Given the description of an element on the screen output the (x, y) to click on. 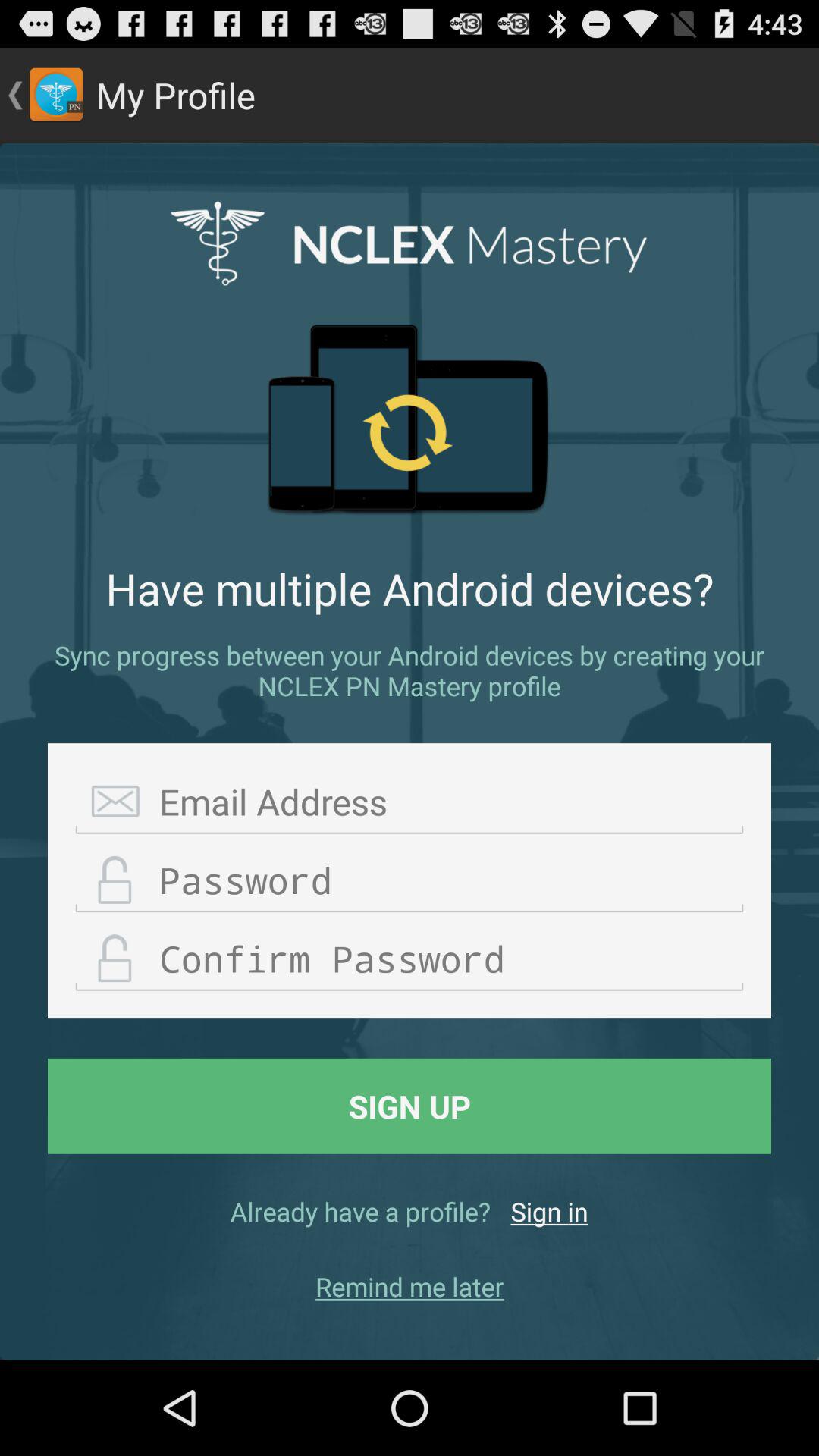
tap sign in icon (549, 1211)
